Given the description of an element on the screen output the (x, y) to click on. 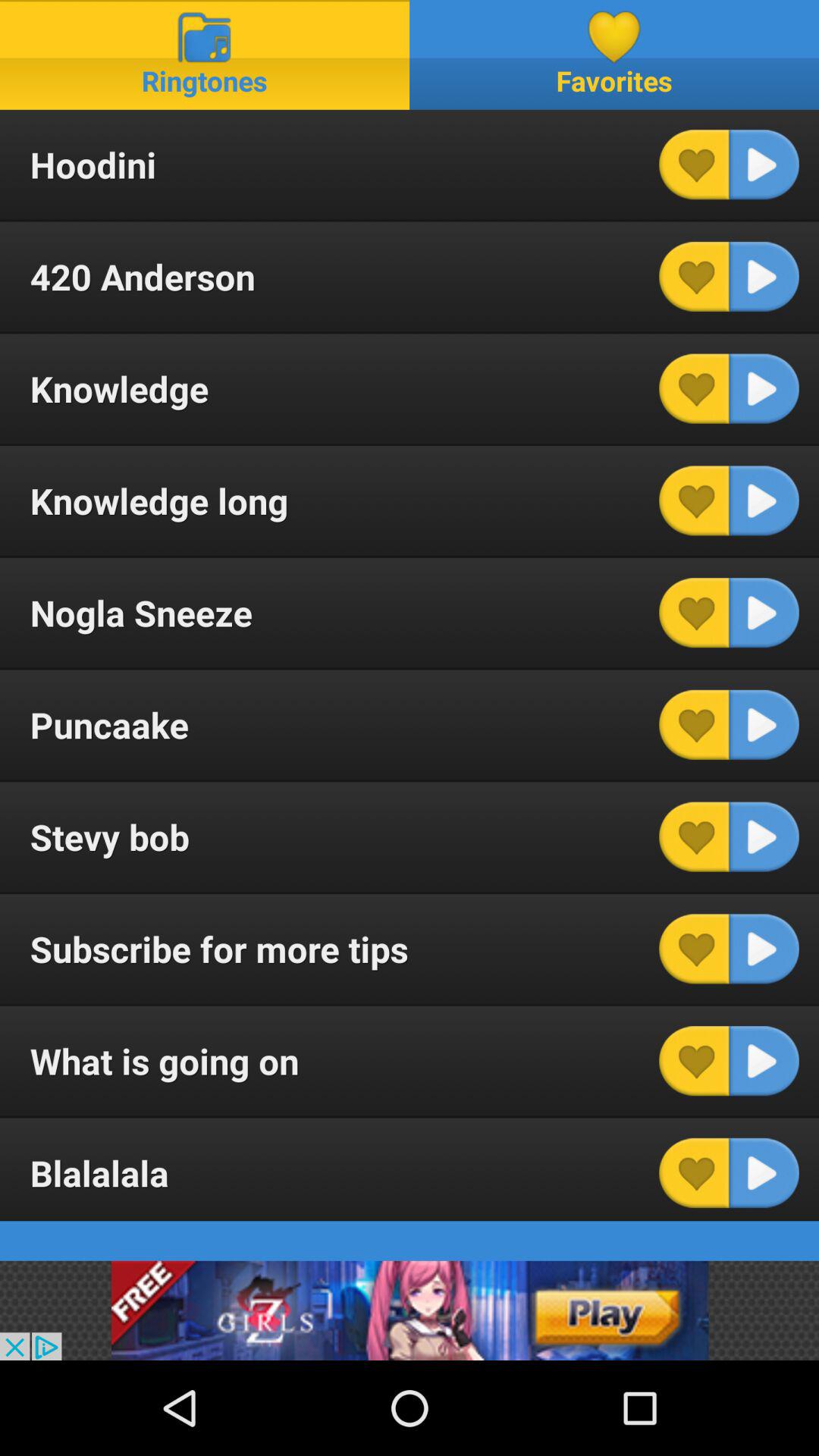
like (694, 388)
